Given the description of an element on the screen output the (x, y) to click on. 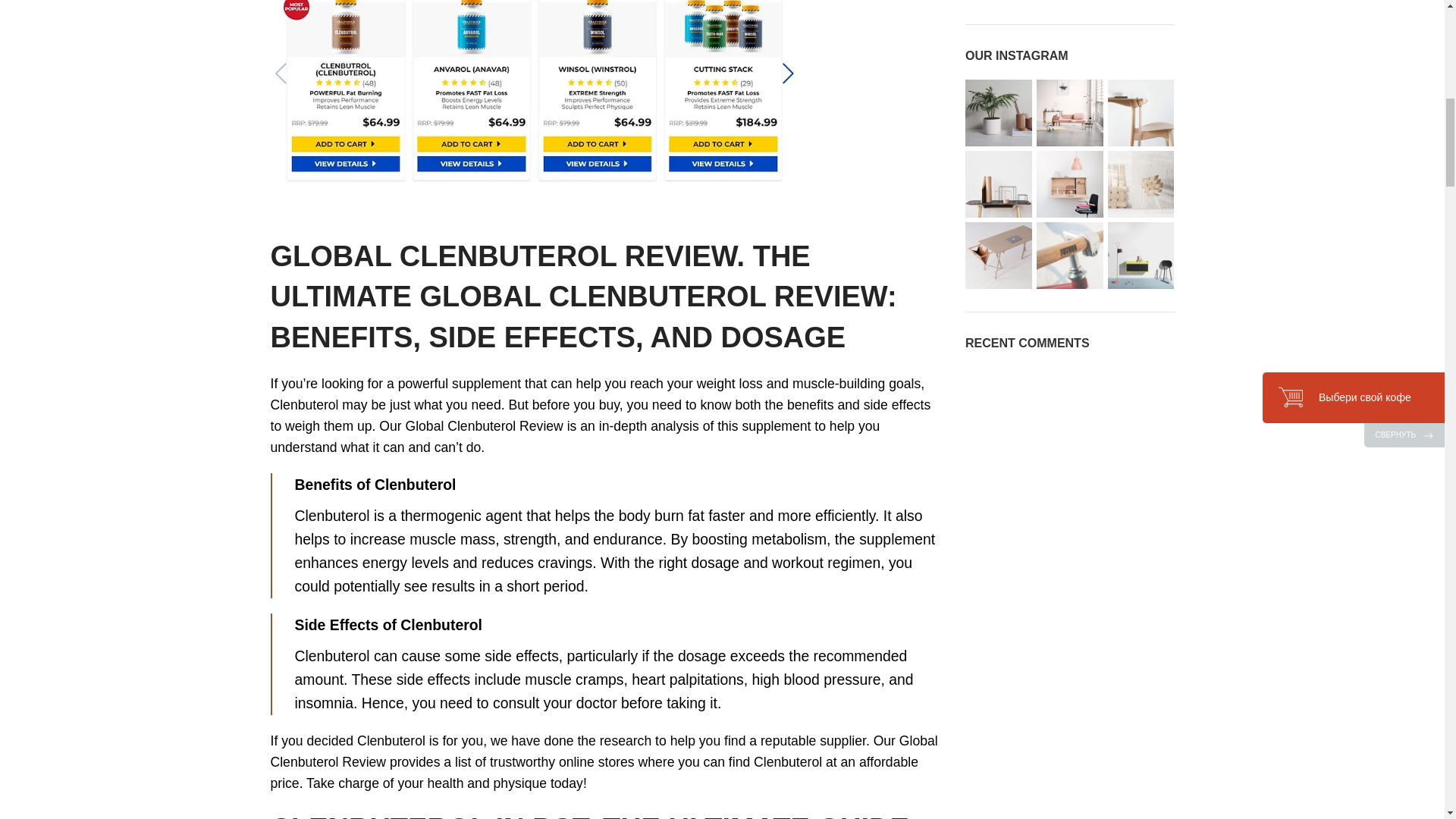
global review clenbuterol (534, 92)
